Given the description of an element on the screen output the (x, y) to click on. 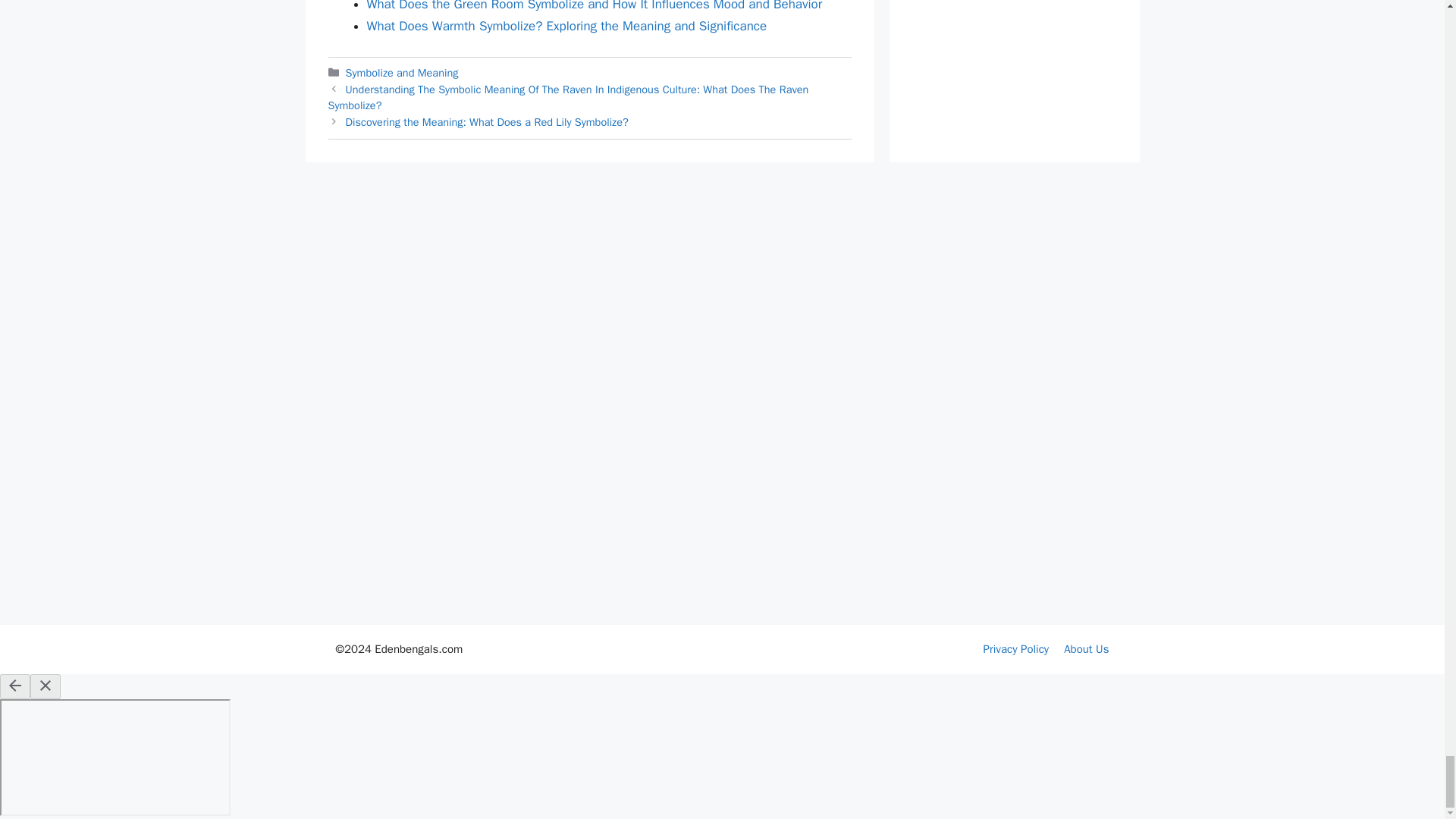
Symbolize and Meaning (402, 72)
Discovering the Meaning: What Does a Red Lily Symbolize? (487, 121)
About Us (1086, 649)
Privacy Policy (1016, 649)
